Given the description of an element on the screen output the (x, y) to click on. 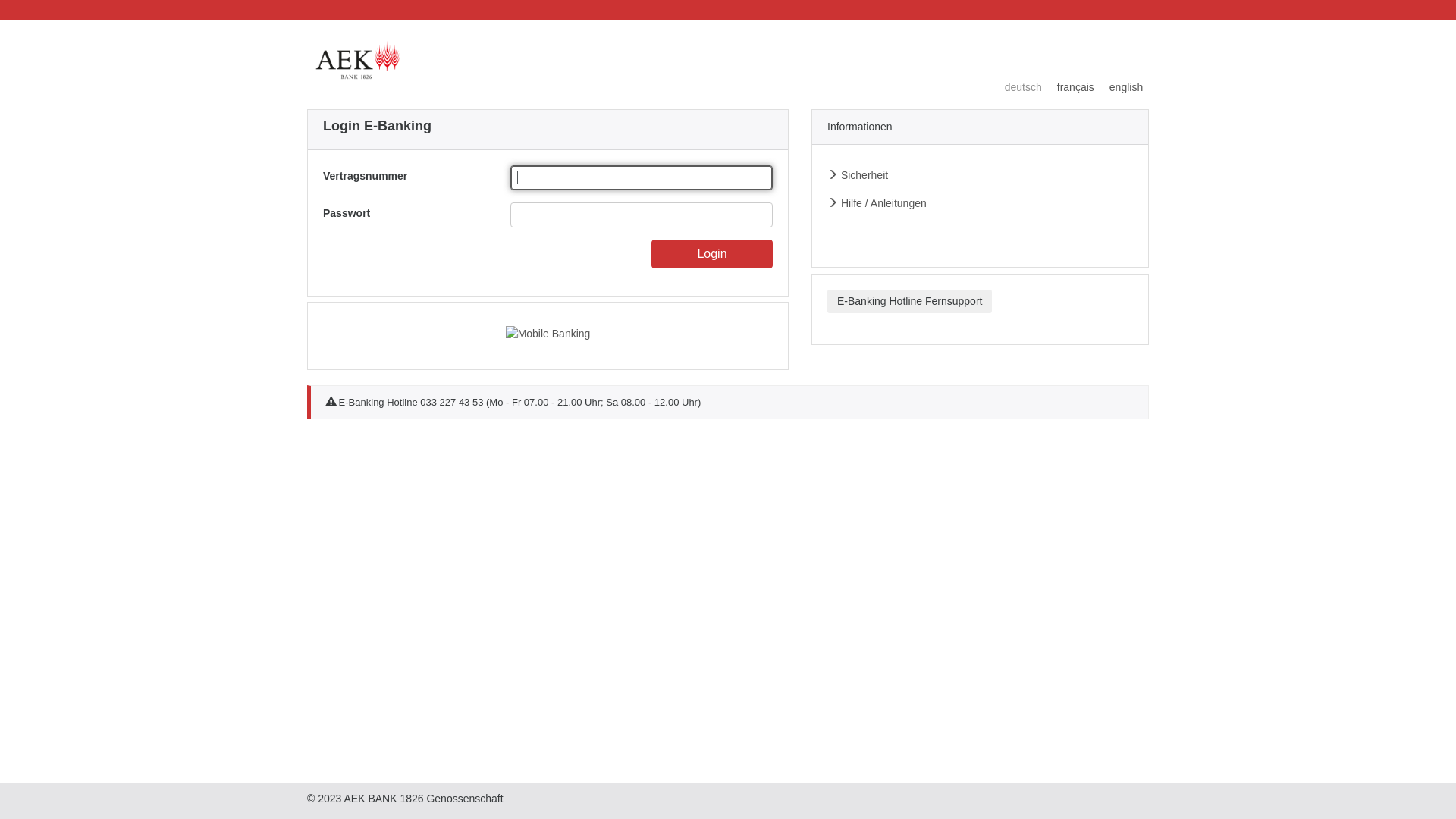
english Element type: text (1118, 87)
Sicherheit Element type: text (857, 175)
deutsch Element type: text (1022, 87)
E-Banking Hotline Fernsupport Element type: text (909, 301)
Login Element type: text (711, 253)
Hilfe / Anleitungen Element type: text (876, 203)
